Given the description of an element on the screen output the (x, y) to click on. 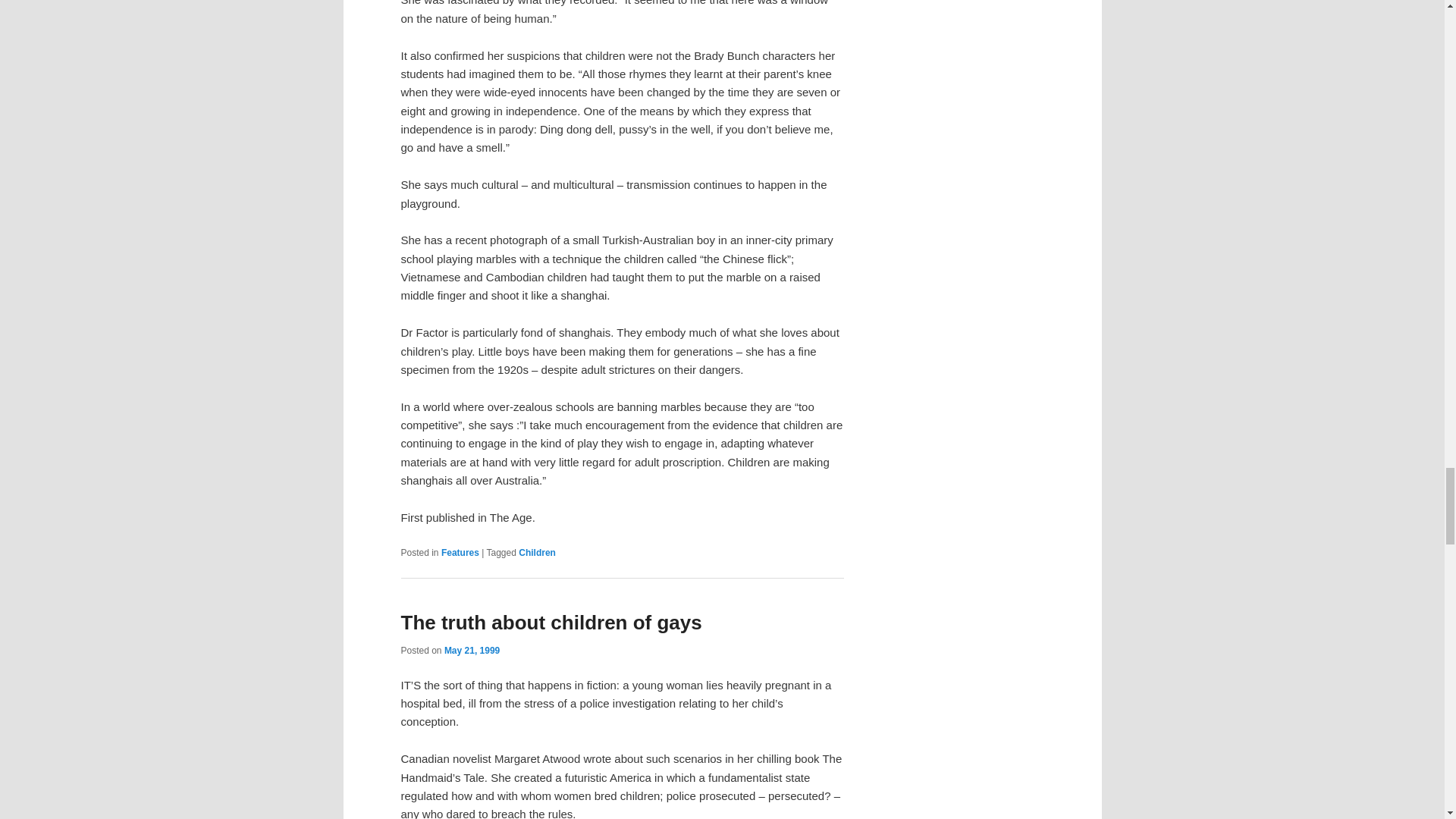
9:08 pm (471, 650)
Children (537, 552)
May 21, 1999 (471, 650)
The truth about children of gays (550, 621)
Features (460, 552)
